Given the description of an element on the screen output the (x, y) to click on. 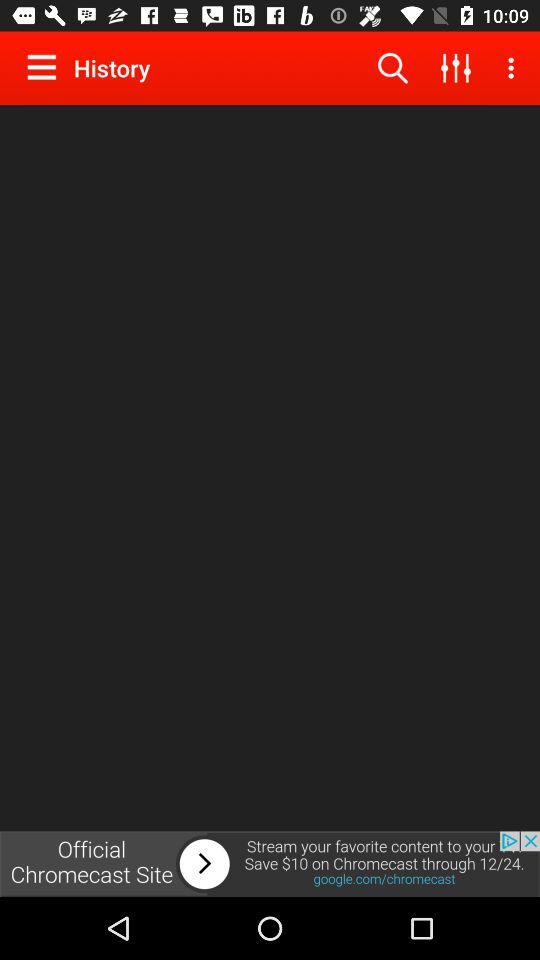
advertisement portion (270, 864)
